Given the description of an element on the screen output the (x, y) to click on. 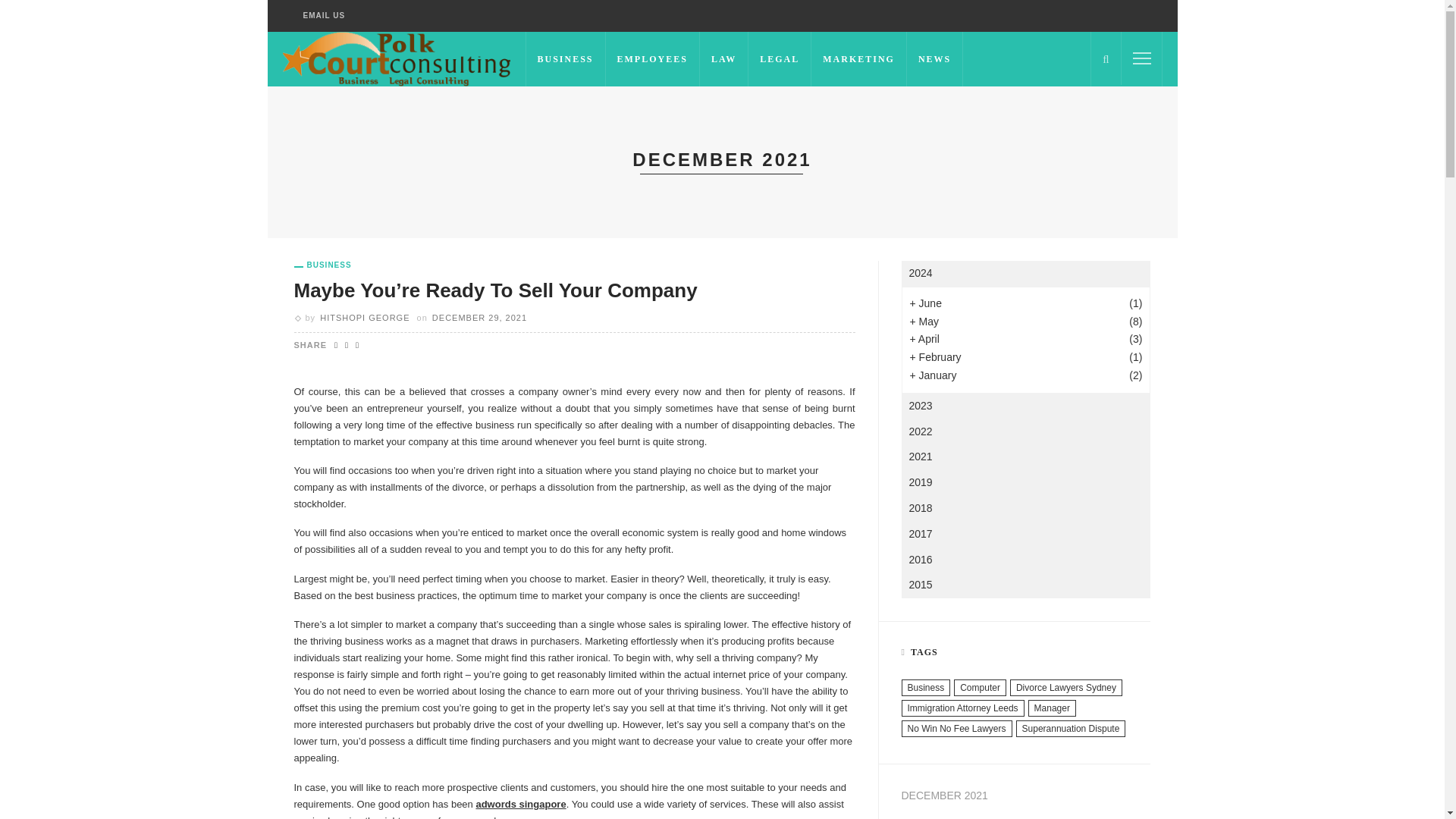
Tuesday (954, 815)
Monday (918, 815)
NEWS (934, 58)
Thursday (1025, 815)
EMPLOYEES (652, 58)
BUSINESS (564, 58)
Wednesday (989, 815)
BUSINESS (323, 265)
LEGAL (779, 58)
adwords singapore (521, 803)
EMAIL US (324, 15)
Business (323, 265)
MARKETING (858, 58)
HITSHOPI GEORGE (364, 317)
Friday (1060, 815)
